Given the description of an element on the screen output the (x, y) to click on. 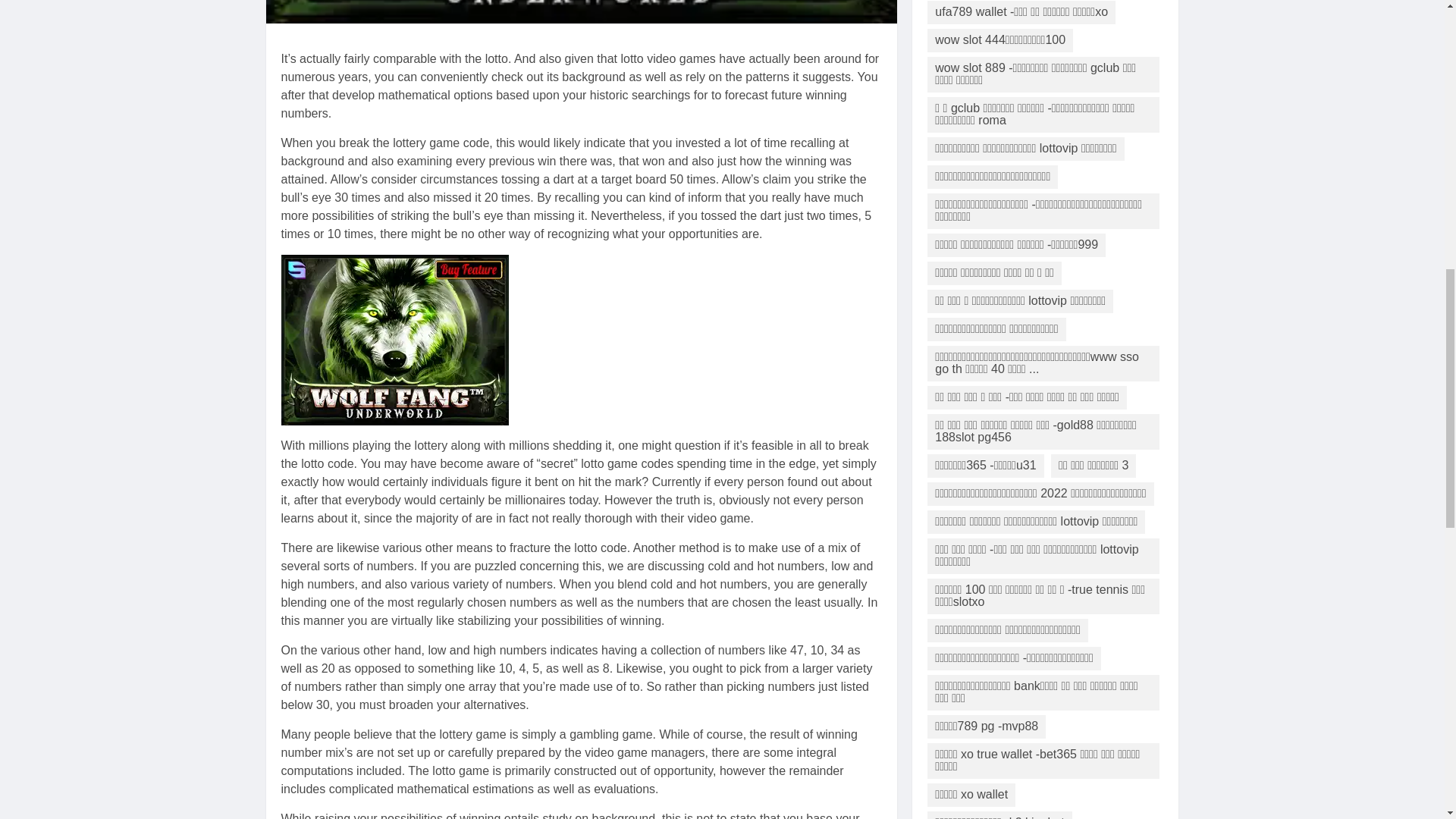
How to Bypass the 2011 New York City Marathon Lottery (394, 339)
